Given the description of an element on the screen output the (x, y) to click on. 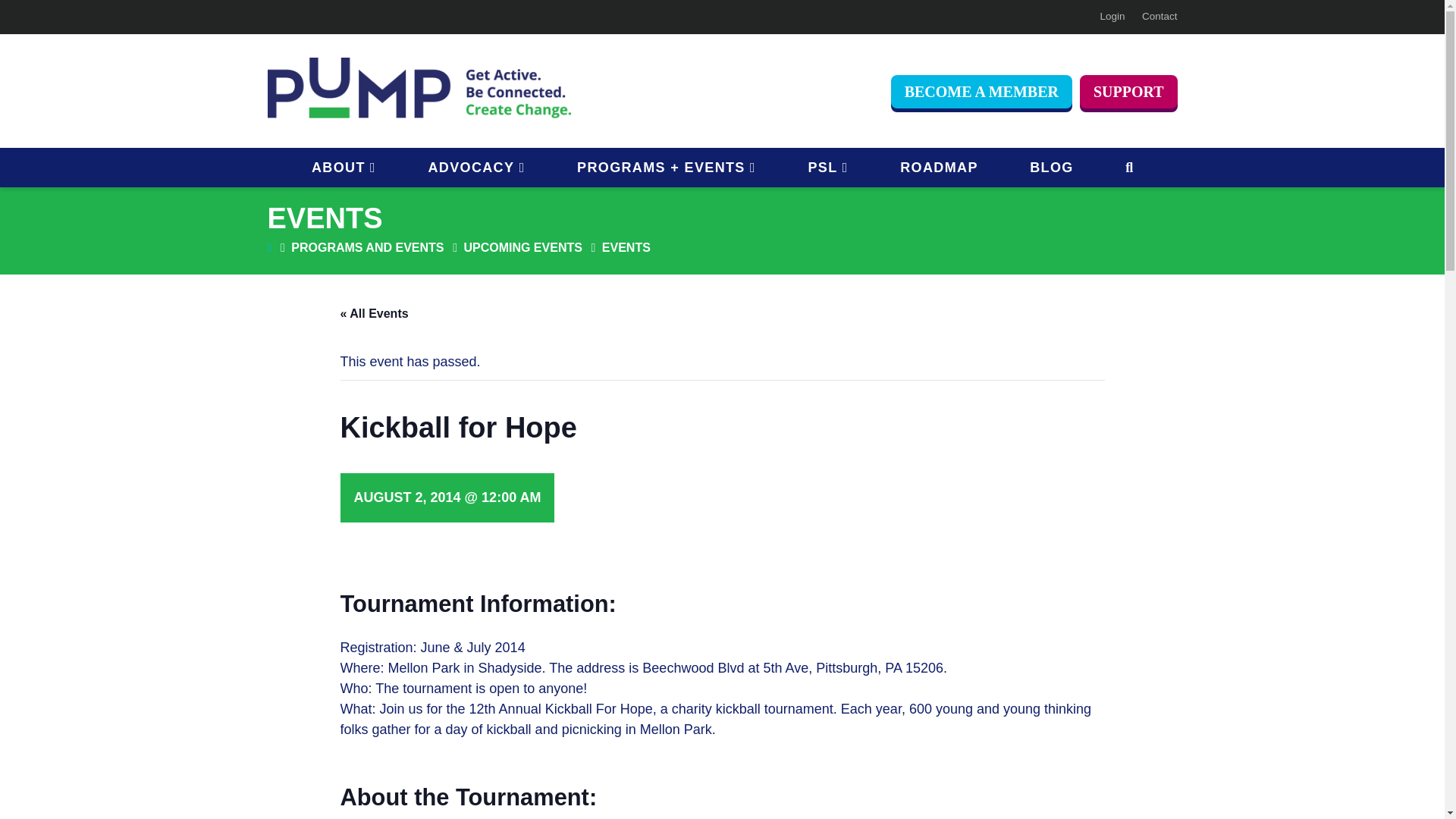
BECOME A MEMBER (981, 91)
SUPPORT (1128, 91)
ABOUT (343, 166)
Contact (1159, 16)
Login (1111, 16)
ADVOCACY (475, 166)
